Given the description of an element on the screen output the (x, y) to click on. 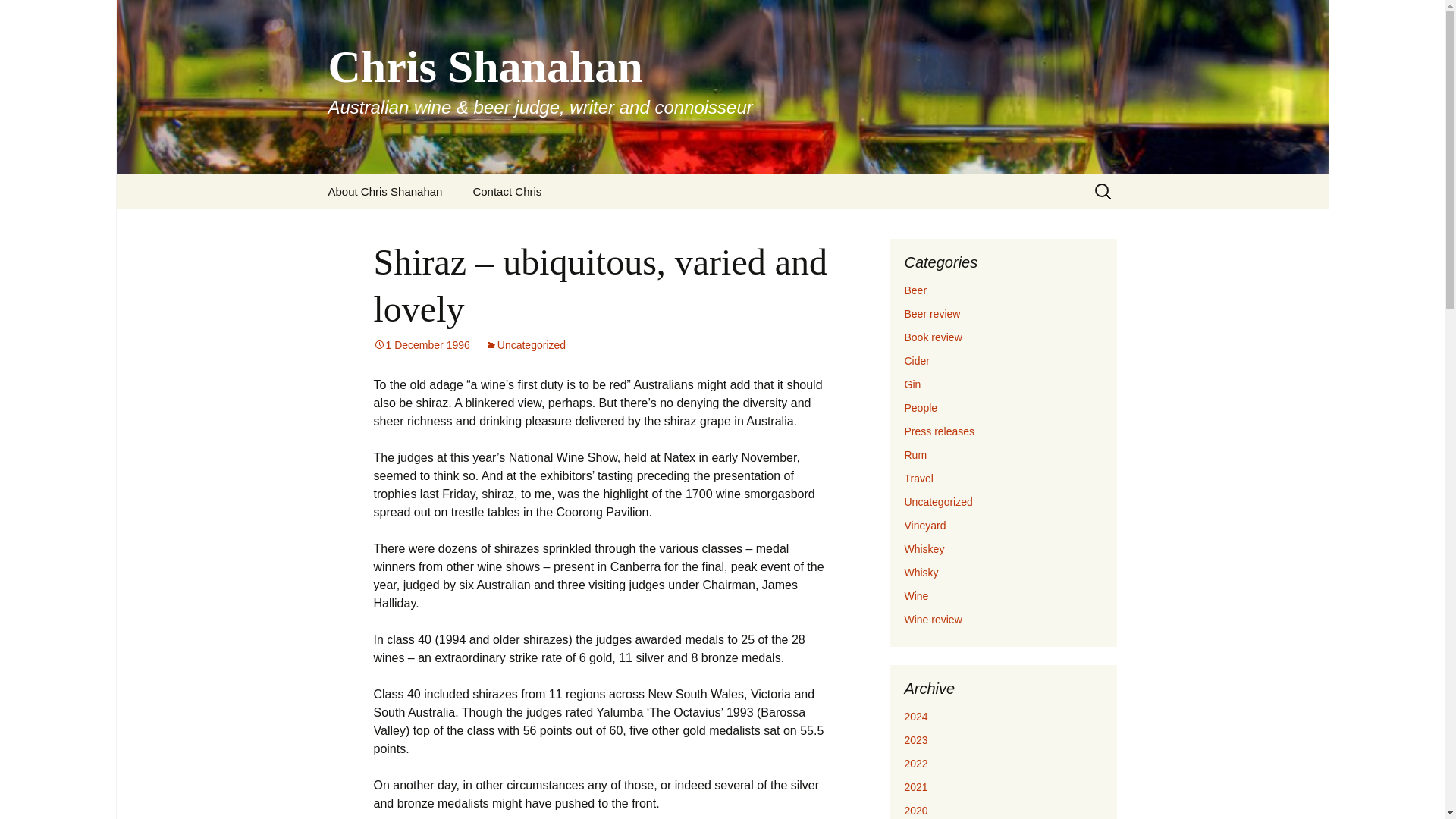
2023 (915, 739)
Vineyard (924, 525)
Whisky (920, 572)
Book review (932, 337)
About Chris Shanahan (385, 191)
People (920, 408)
2020 (915, 810)
Uncategorized (525, 345)
Uncategorized (938, 501)
Contact Chris (506, 191)
Rum (915, 454)
Travel (918, 478)
2024 (915, 716)
Wine (916, 595)
